Given the description of an element on the screen output the (x, y) to click on. 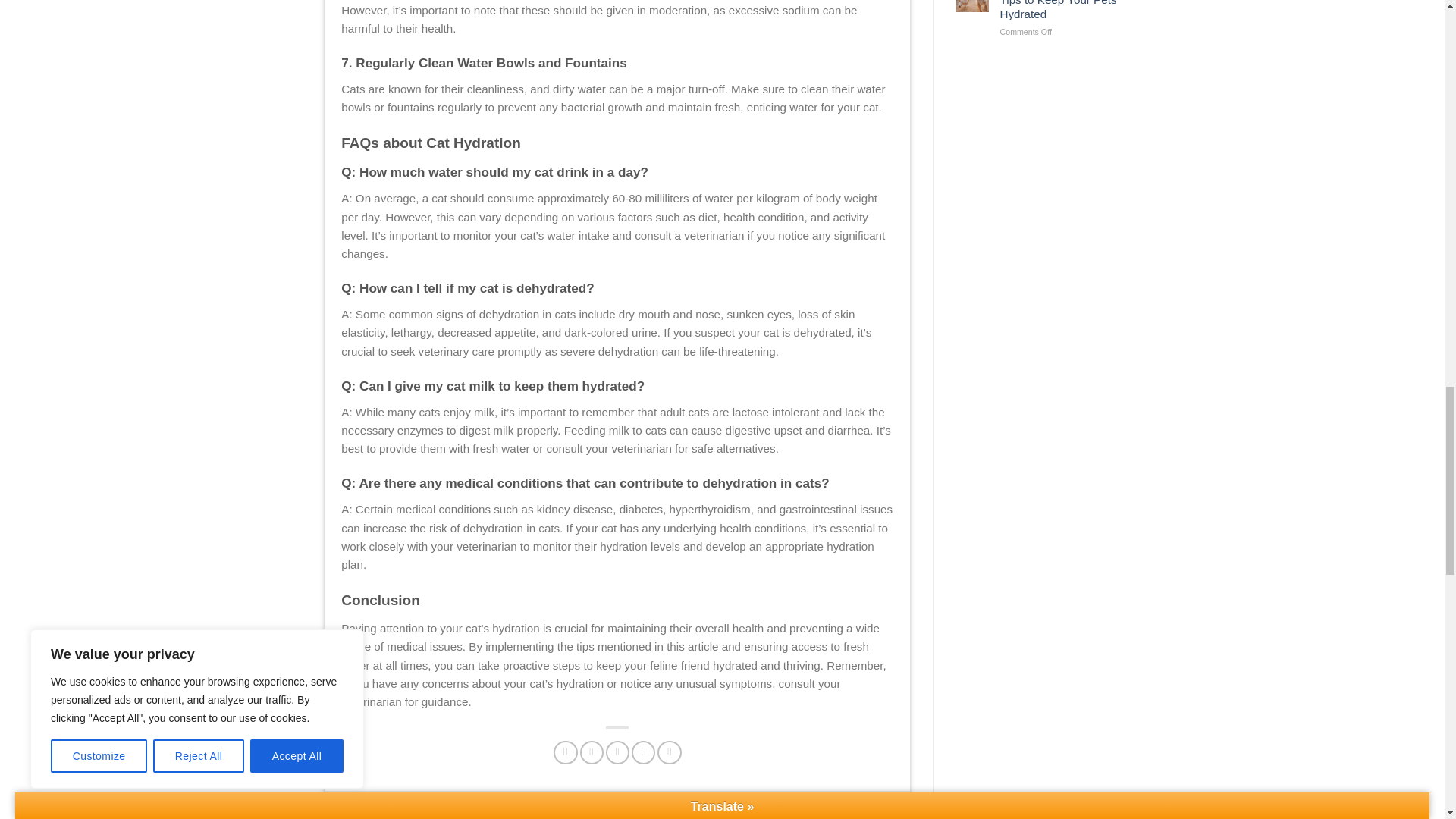
Quenching Their Thirst: Tips to Keep Your Pets Hydrated (1060, 10)
